Given the description of an element on the screen output the (x, y) to click on. 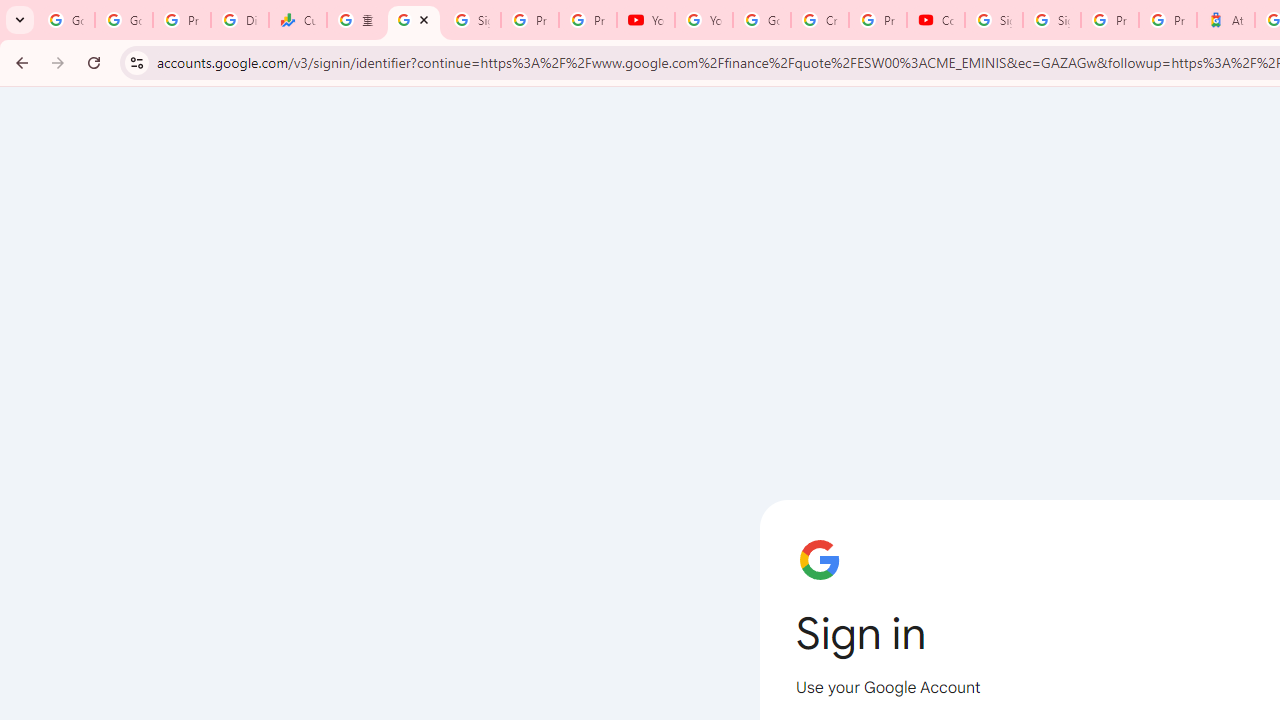
Content Creator Programs & Opportunities - YouTube Creators (936, 20)
Sign in - Google Accounts (413, 20)
Currencies - Google Finance (297, 20)
Create your Google Account (819, 20)
